Given the description of an element on the screen output the (x, y) to click on. 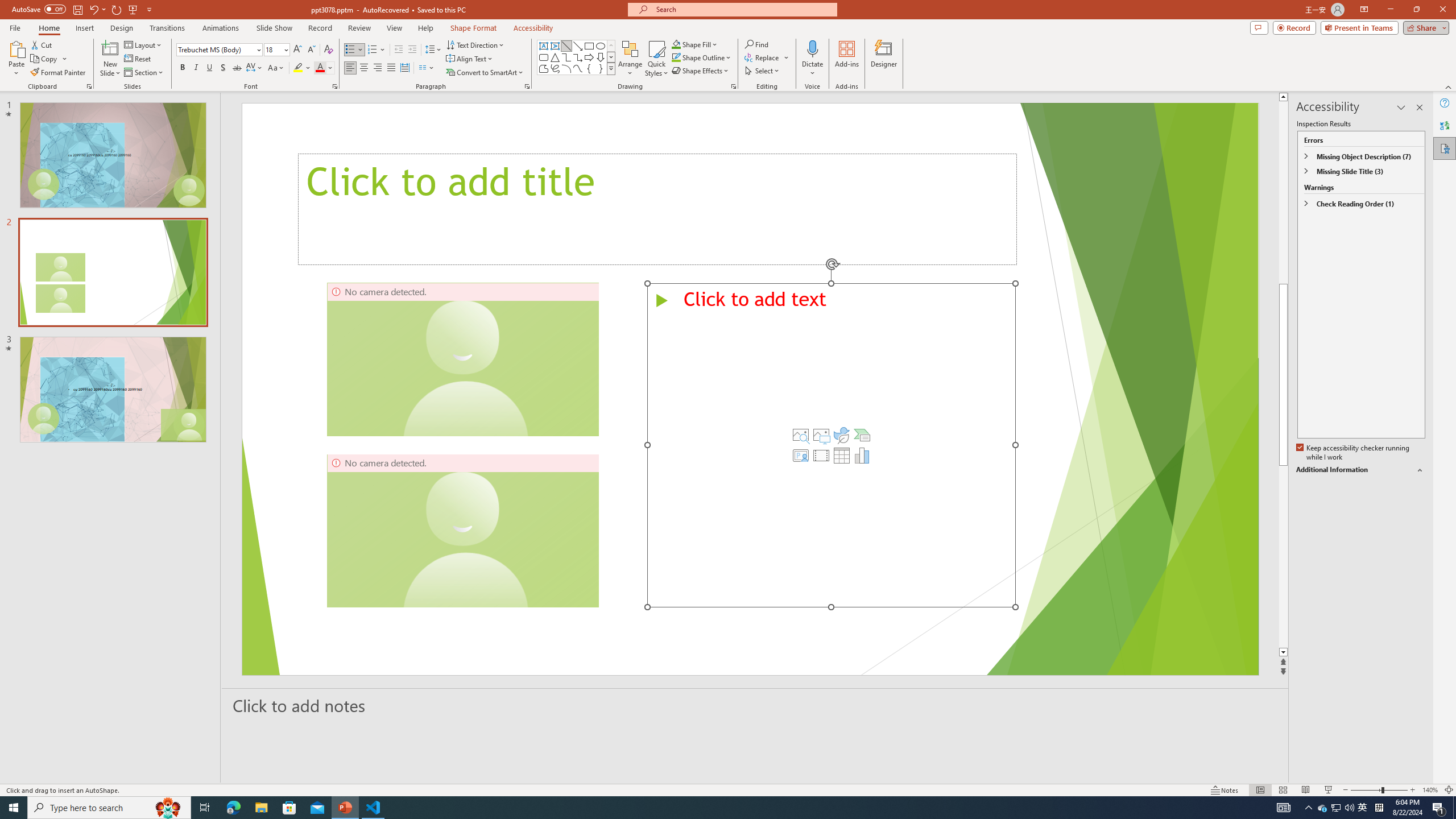
Camera 3, No camera detected. (462, 359)
Stock Images (800, 434)
